Given the description of an element on the screen output the (x, y) to click on. 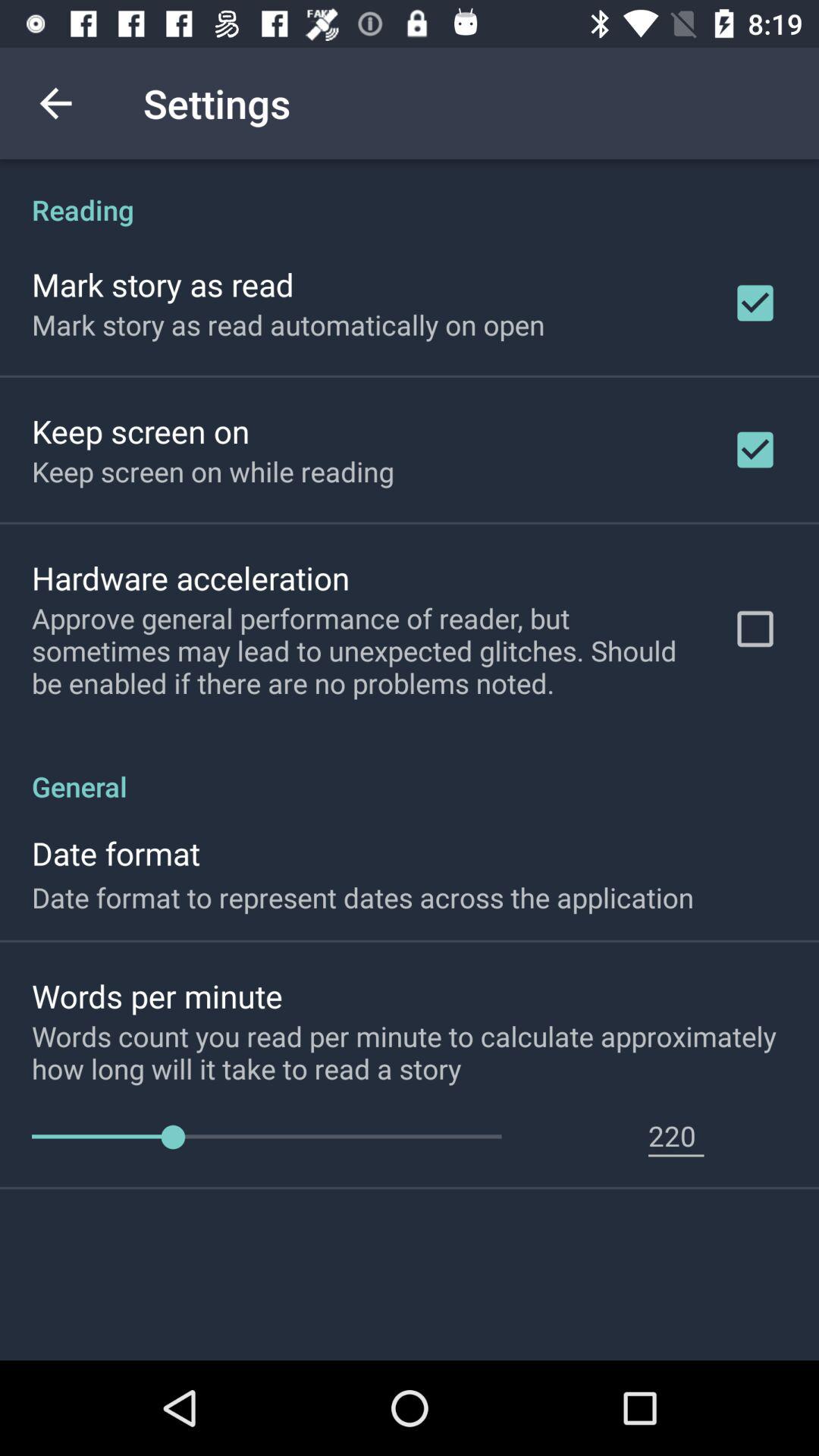
open item next to 220 (266, 1137)
